Given the description of an element on the screen output the (x, y) to click on. 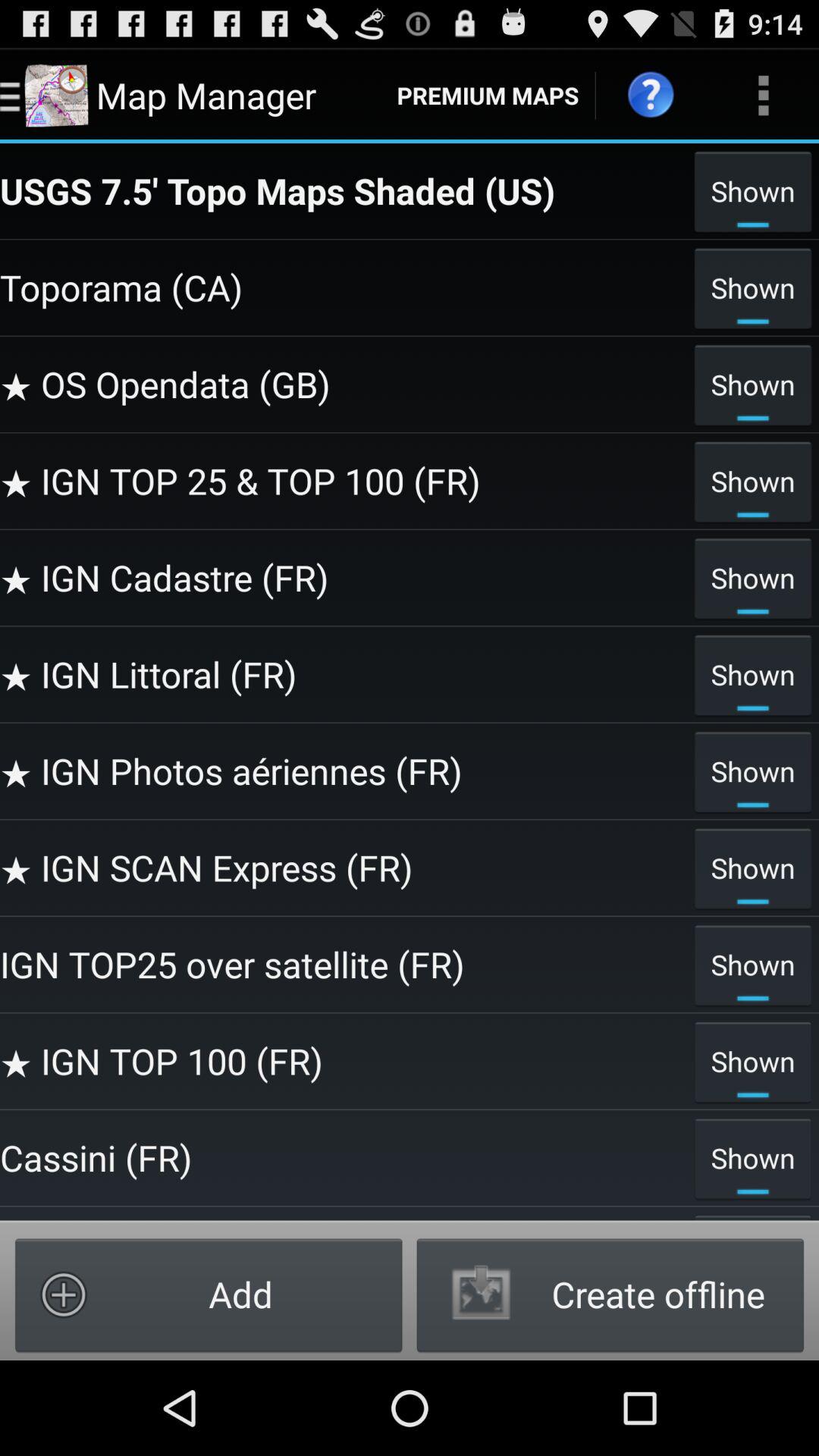
press the item to the left of the shown item (343, 1157)
